Given the description of an element on the screen output the (x, y) to click on. 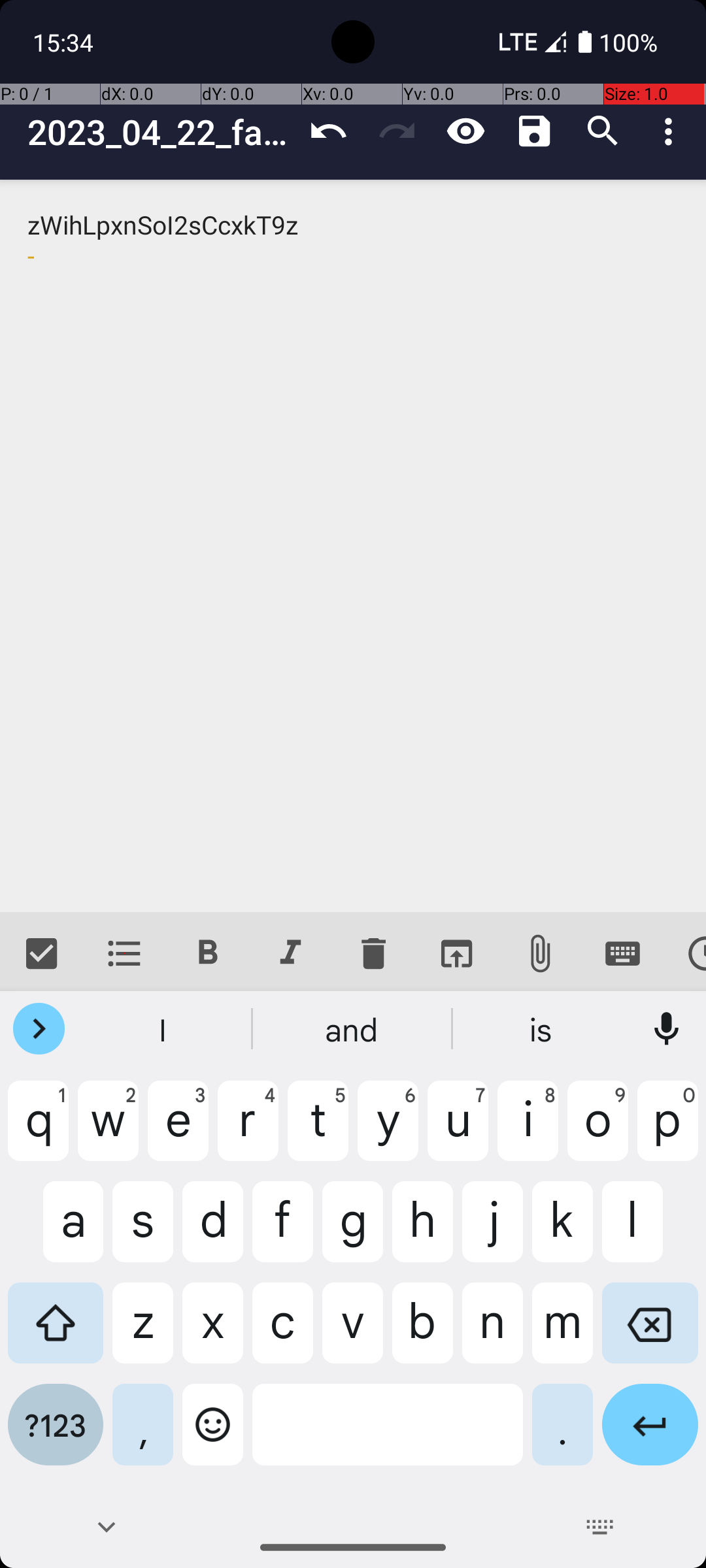
2023_04_22_favorite_book_quotes Element type: android.widget.TextView (160, 131)
zWihLpxnSoI2sCcxkT9z
-  Element type: android.widget.EditText (353, 545)
and Element type: android.widget.FrameLayout (352, 1028)
is Element type: android.widget.FrameLayout (541, 1028)
